Given the description of an element on the screen output the (x, y) to click on. 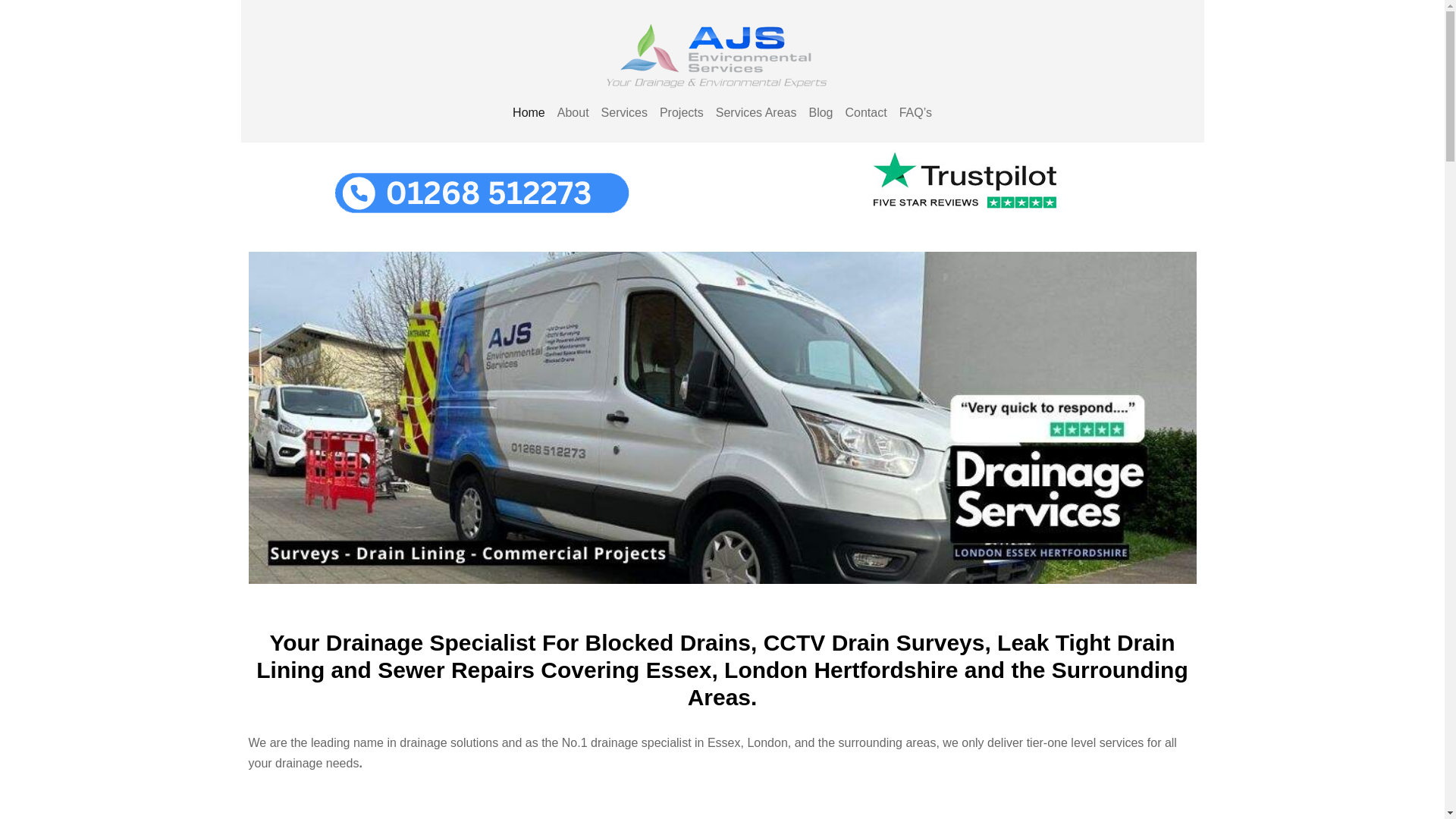
Home (528, 112)
Services (624, 112)
Contact (865, 112)
Services Areas (756, 112)
Blog (820, 112)
About (573, 112)
Projects (681, 112)
